Given the description of an element on the screen output the (x, y) to click on. 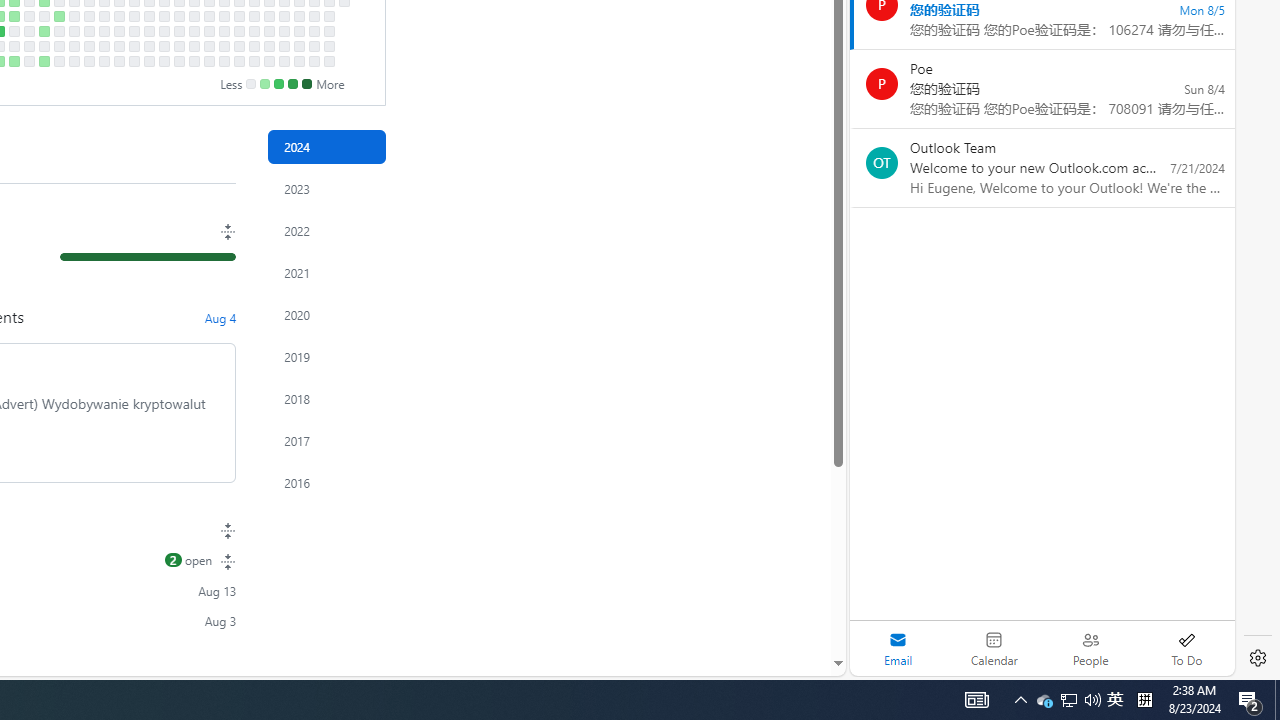
No contributions on December 13th. (298, 46)
2024 (326, 147)
Aug 4 (219, 317)
No contributions on August 29th. (73, 30)
Contribution activity in 2018 (326, 399)
No contributions on August 1st. (13, 30)
No contributions on November 2nd. (209, 61)
No contributions on August 30th. (73, 46)
No contributions on September 26th. (133, 30)
No contributions on November 16th. (238, 61)
No contributions on September 18th. (118, 16)
No contributions on August 22nd. (58, 30)
No contributions on October 25th. (193, 46)
No contributions on November 6th. (223, 16)
